Given the description of an element on the screen output the (x, y) to click on. 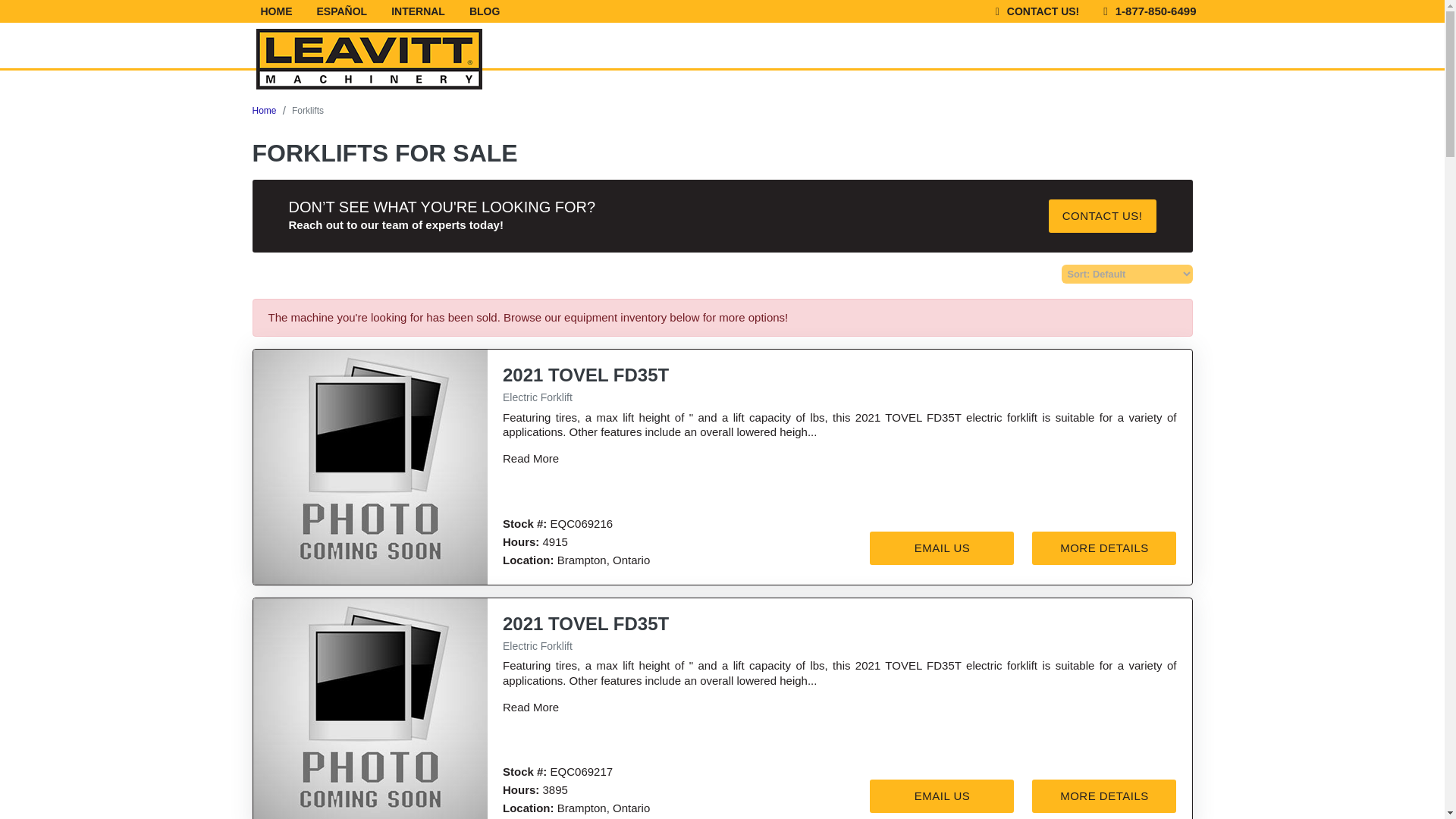
Used 2021 TOVEL FD35T Electric Forklift in Brampton Ontario (370, 708)
INTERNAL (417, 11)
NEW EQUIPMENT (652, 48)
Used 2021 TOVEL FD35T Electric Forklift in Brampton Ontario (370, 466)
HOME (276, 11)
1-877-850-6499 (1142, 11)
CONTACT US! (1038, 11)
Sort (1126, 273)
BLOG (478, 11)
